Given the description of an element on the screen output the (x, y) to click on. 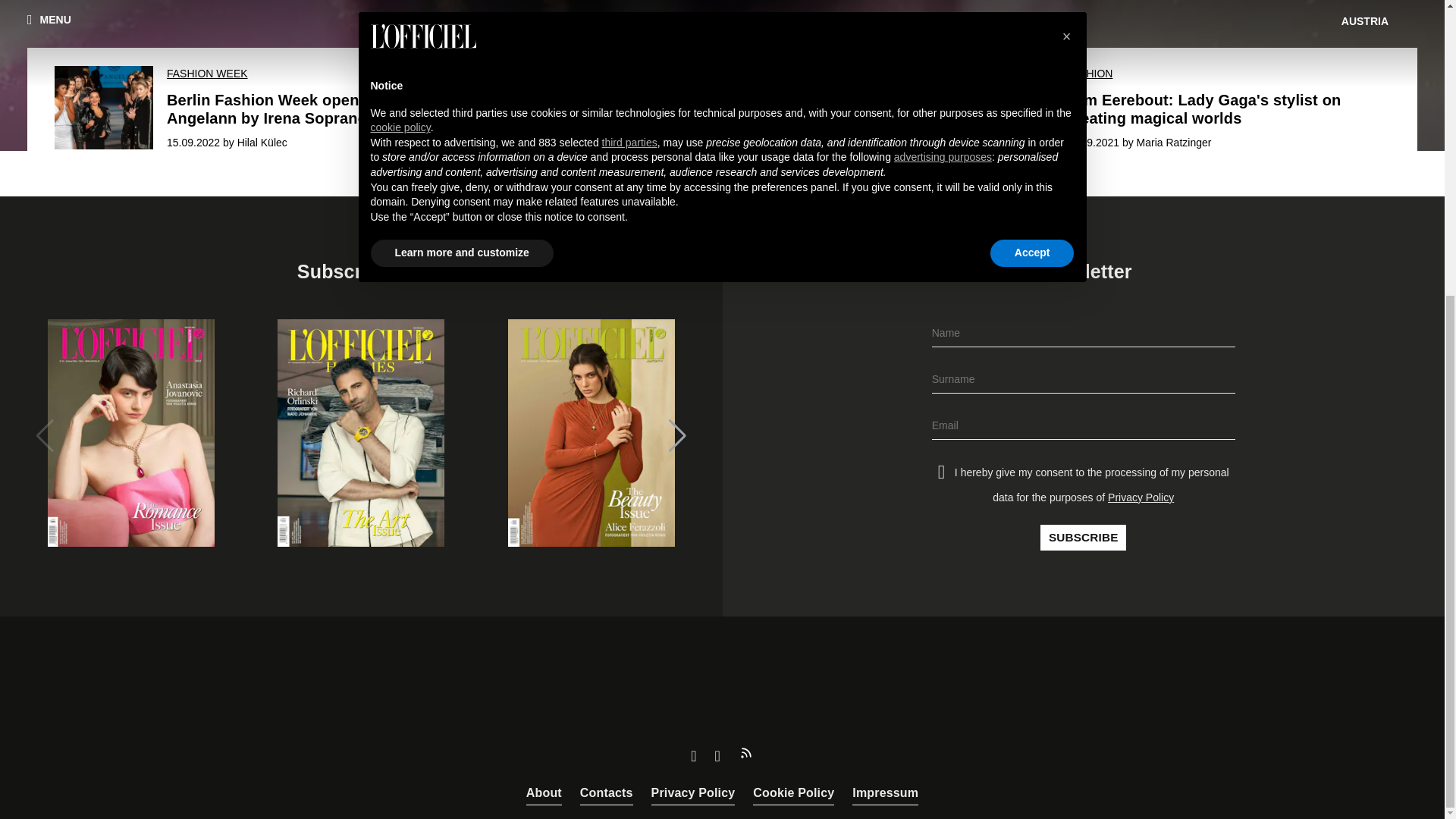
Cookie Policy (793, 793)
Privacy Policy (692, 793)
Subscribe (1083, 537)
